Given the description of an element on the screen output the (x, y) to click on. 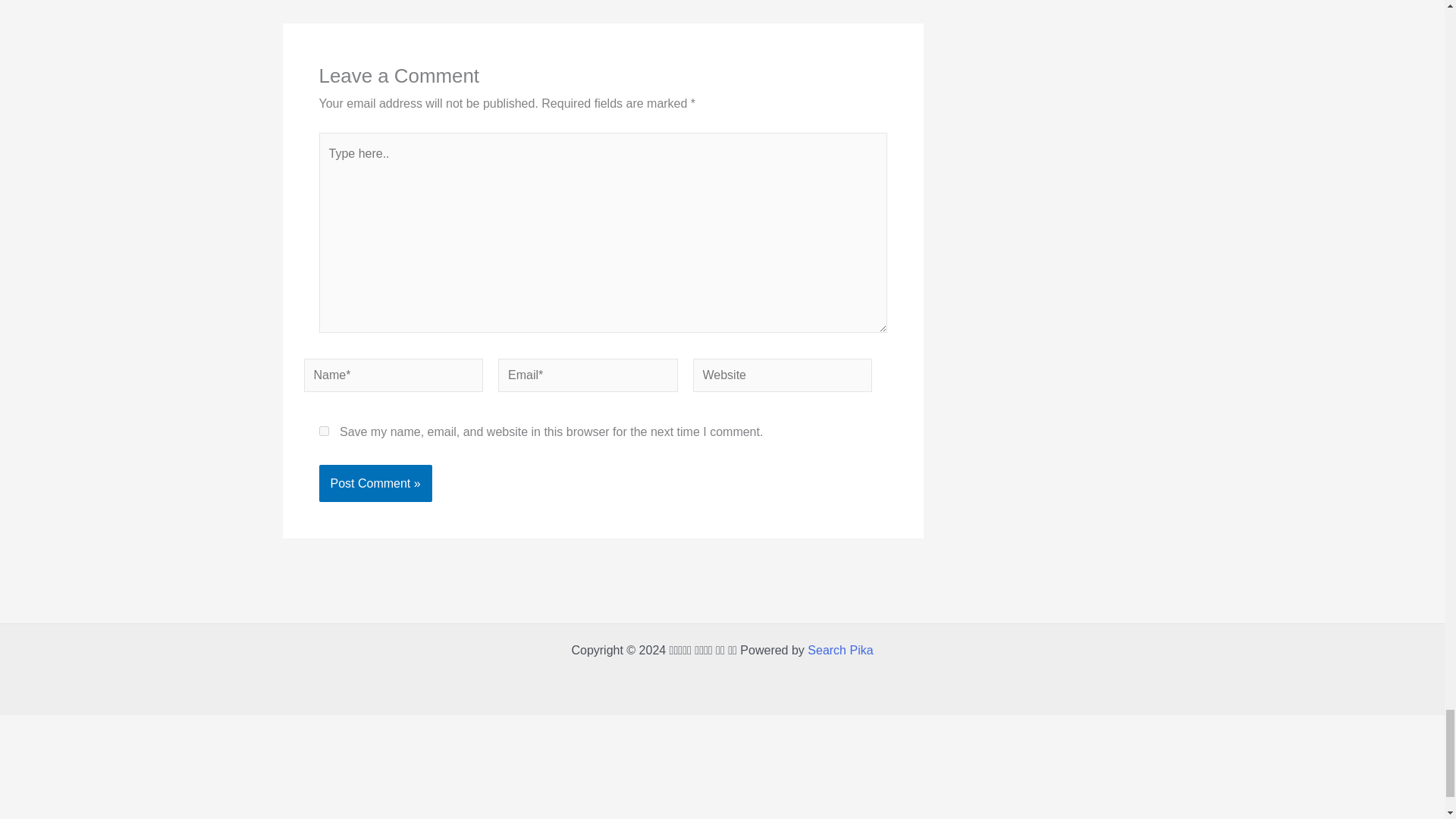
yes (323, 430)
